Given the description of an element on the screen output the (x, y) to click on. 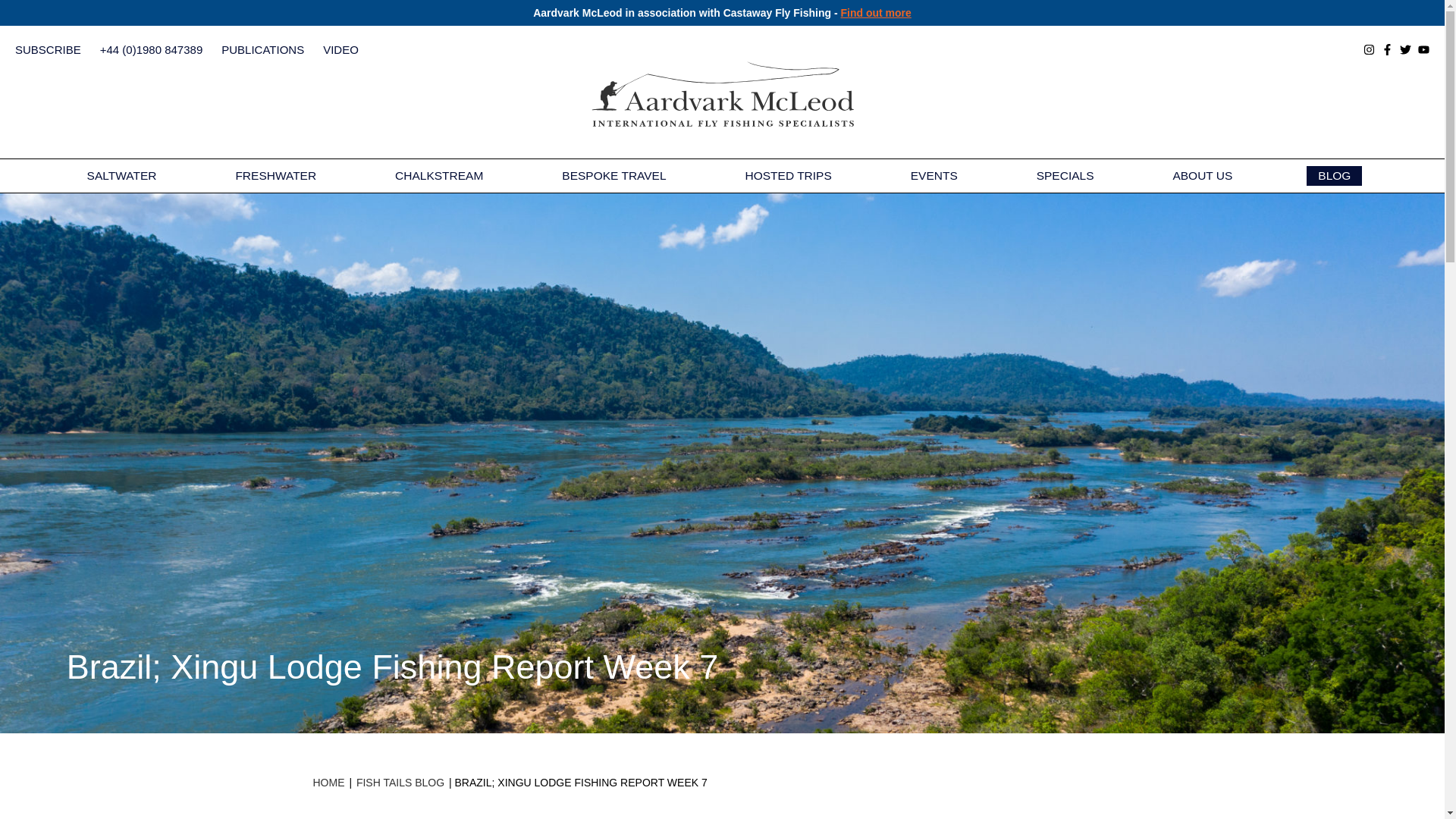
PUBLICATIONS (262, 49)
SUBSCRIBE (47, 49)
Find out more (875, 12)
SALTWATER (121, 175)
VIDEO (340, 49)
